Given the description of an element on the screen output the (x, y) to click on. 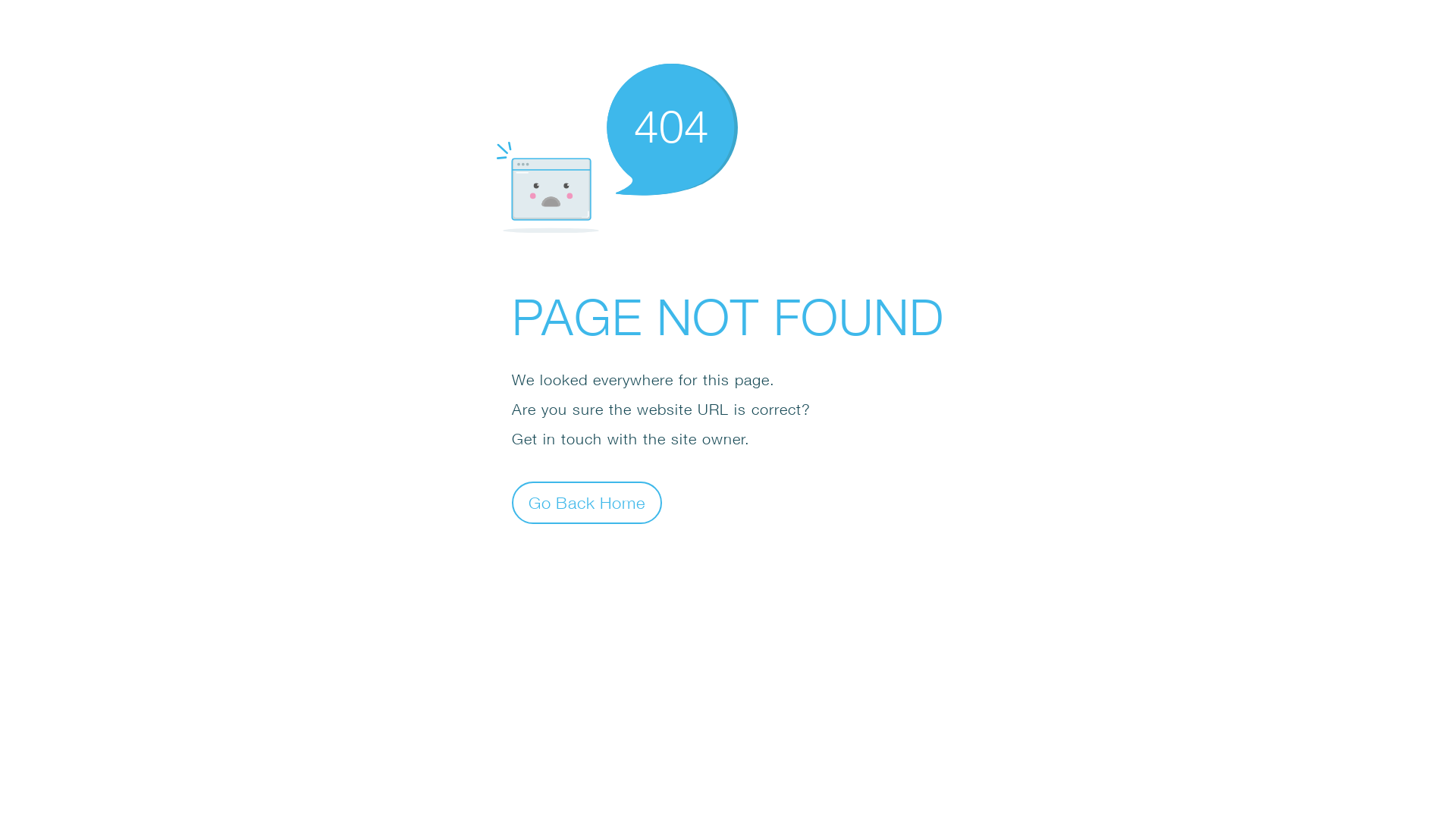
Go Back Home Element type: text (586, 502)
